Given the description of an element on the screen output the (x, y) to click on. 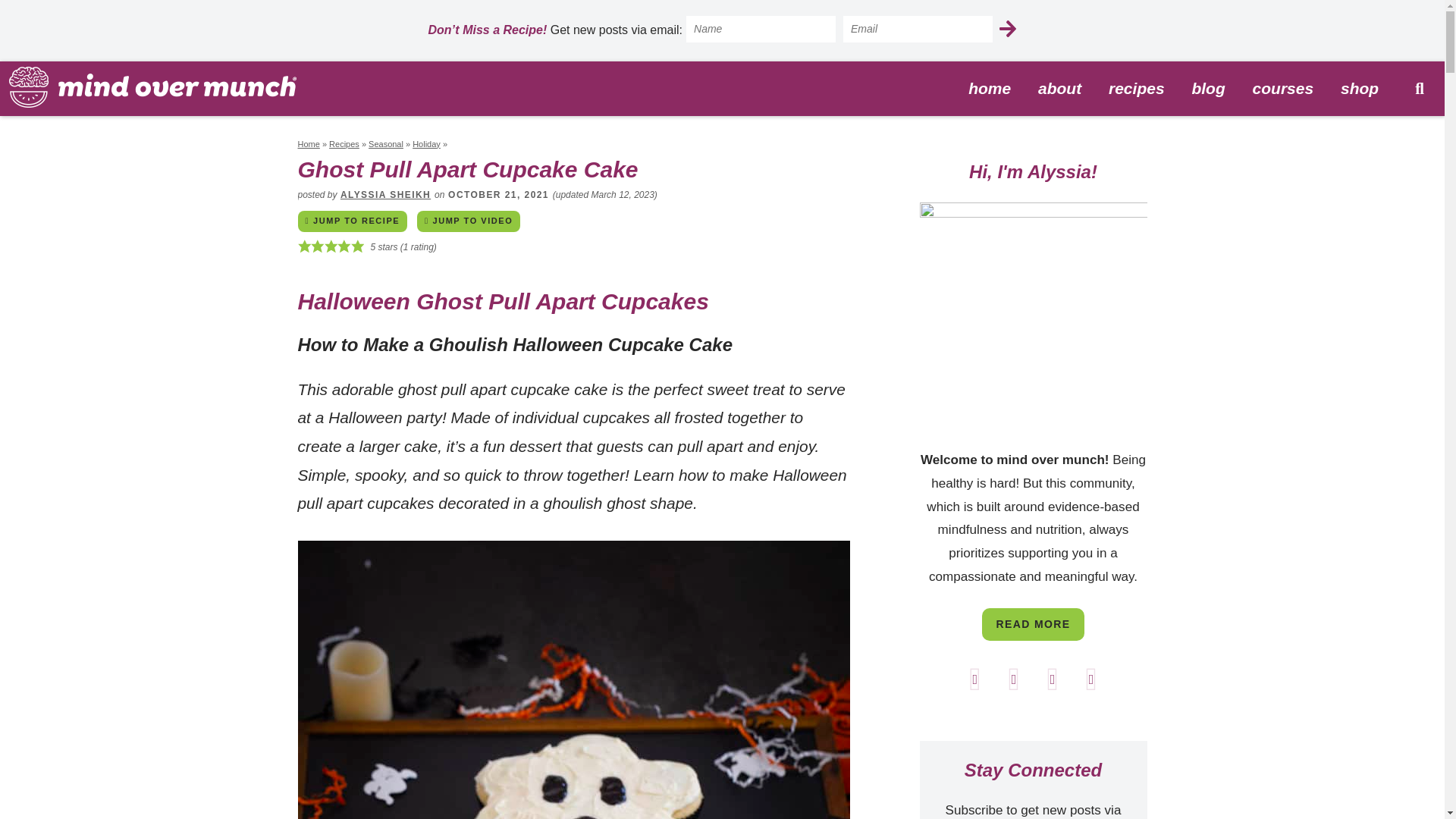
Mind Over Munch (152, 87)
Youtube (975, 678)
Instagram (1091, 678)
Facebook (1054, 678)
Pinterest (1015, 678)
